Given the description of an element on the screen output the (x, y) to click on. 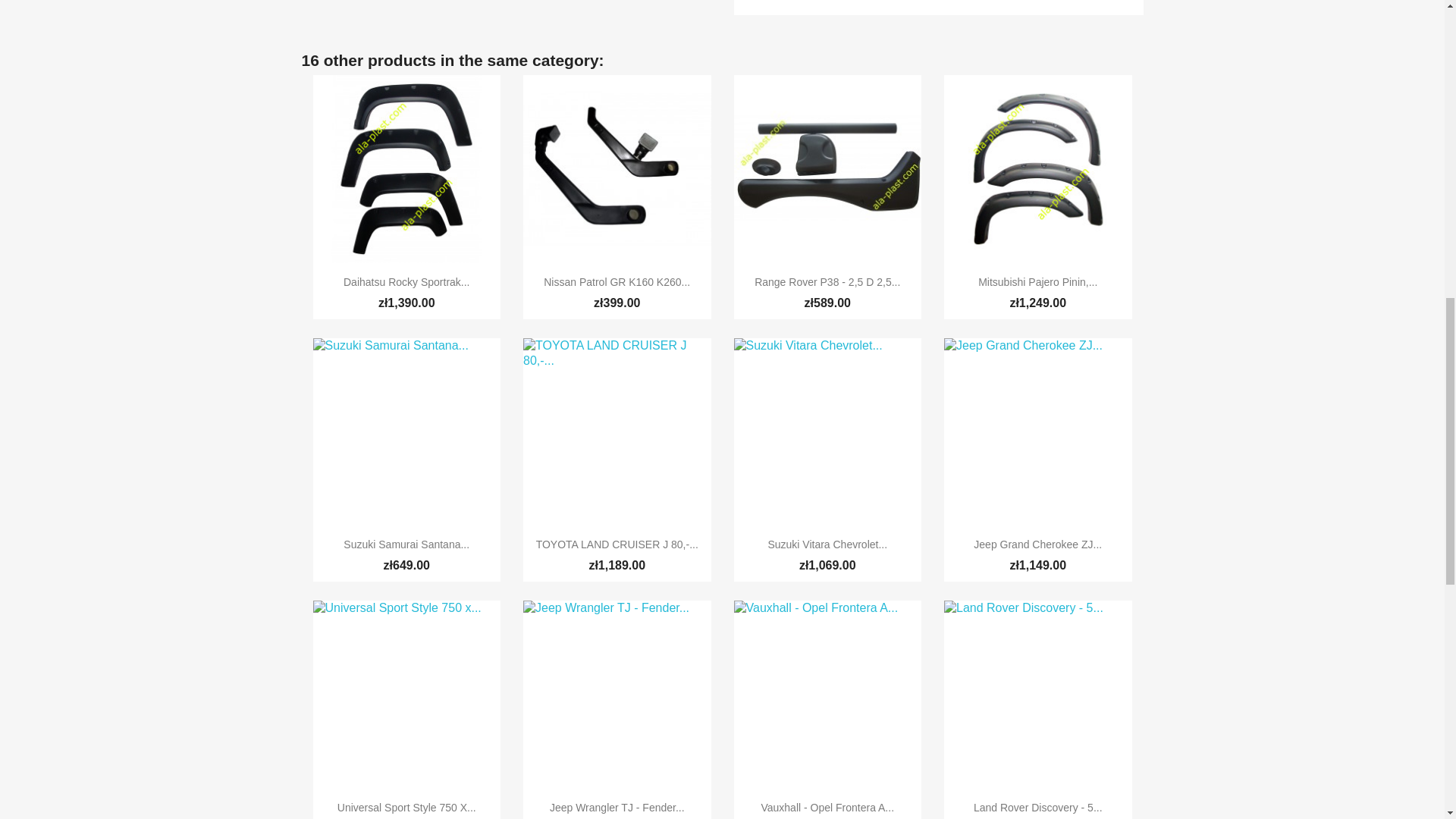
Daihatsu Rocky Sportrak... (406, 282)
Mitsubishi Pajero Pinin,... (1037, 282)
Range Rover P38 - 2,5 D 2,5... (826, 282)
Nissan Patrol GR K160 K260... (616, 282)
